Given the description of an element on the screen output the (x, y) to click on. 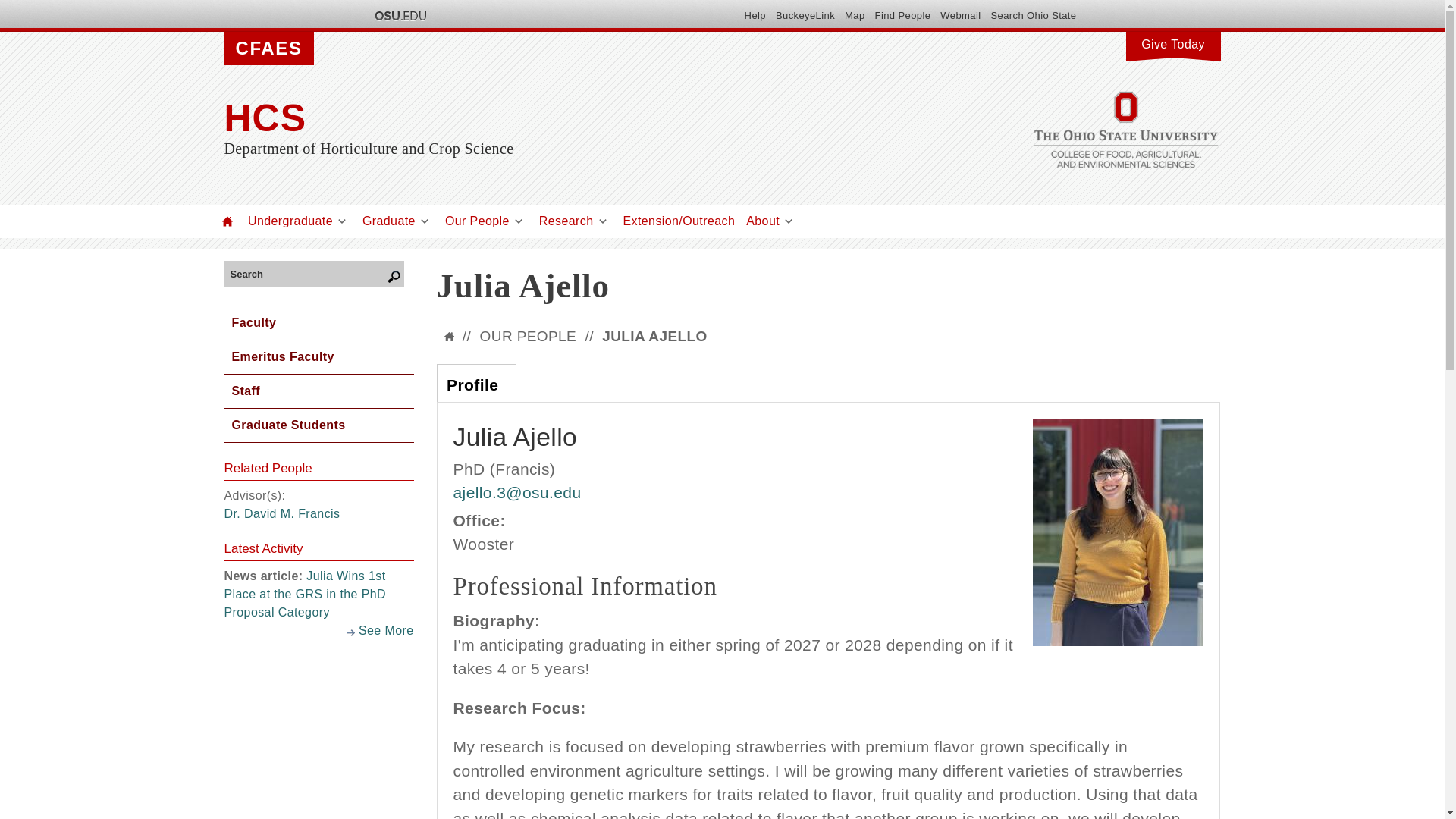
About (761, 221)
The Ohio State University (399, 15)
Our People (477, 221)
Home (572, 118)
Help (754, 15)
Home (226, 221)
Search (309, 273)
Staff (318, 390)
Skip to main content (686, 1)
Webmail (959, 15)
